Given the description of an element on the screen output the (x, y) to click on. 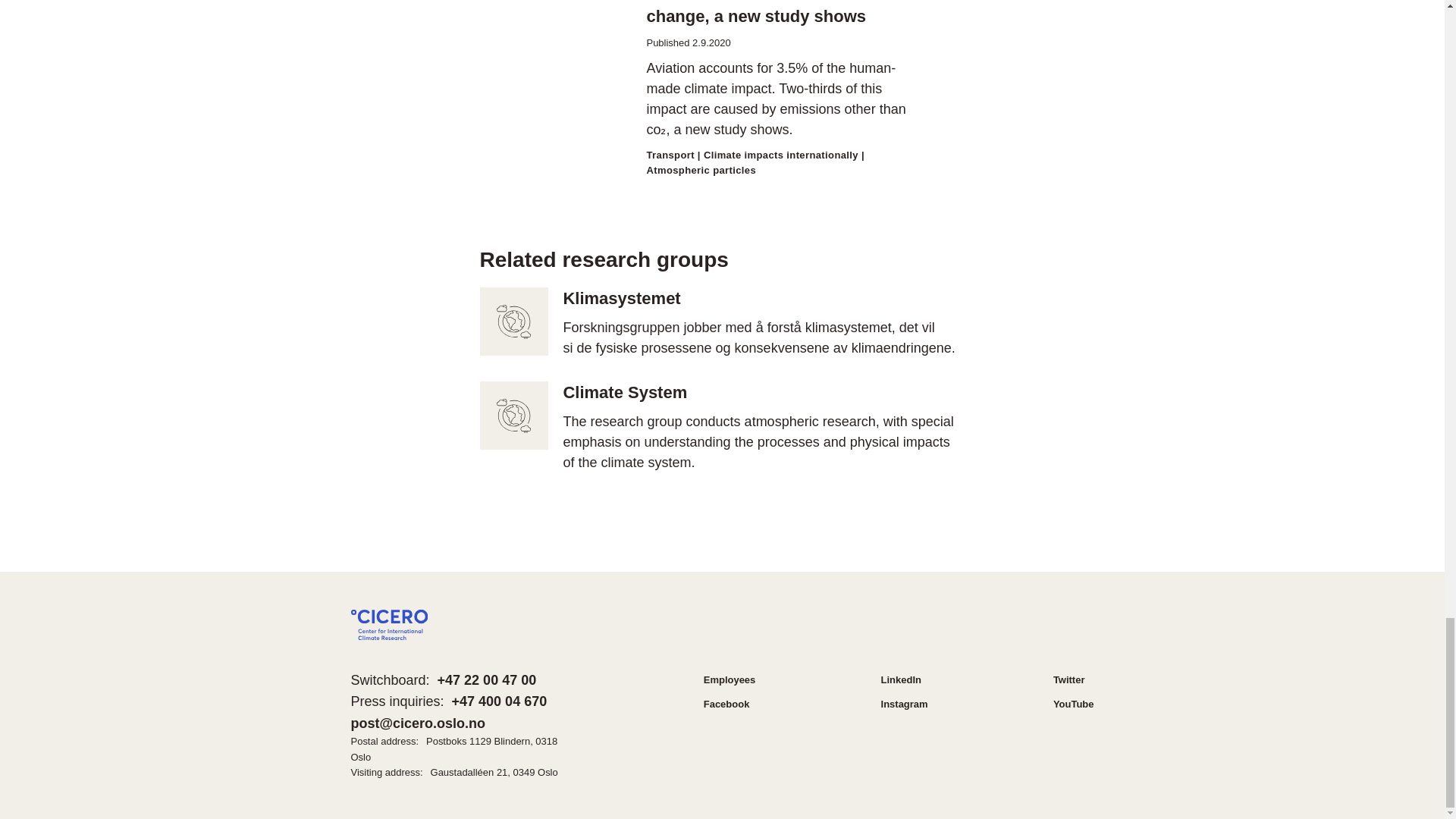
Employees (729, 679)
Twitter (1068, 679)
YouTube (1073, 704)
ciceros youtube-kanal (1073, 704)
Facebook (726, 704)
LinkedIn (900, 679)
Instagram (904, 704)
